Given the description of an element on the screen output the (x, y) to click on. 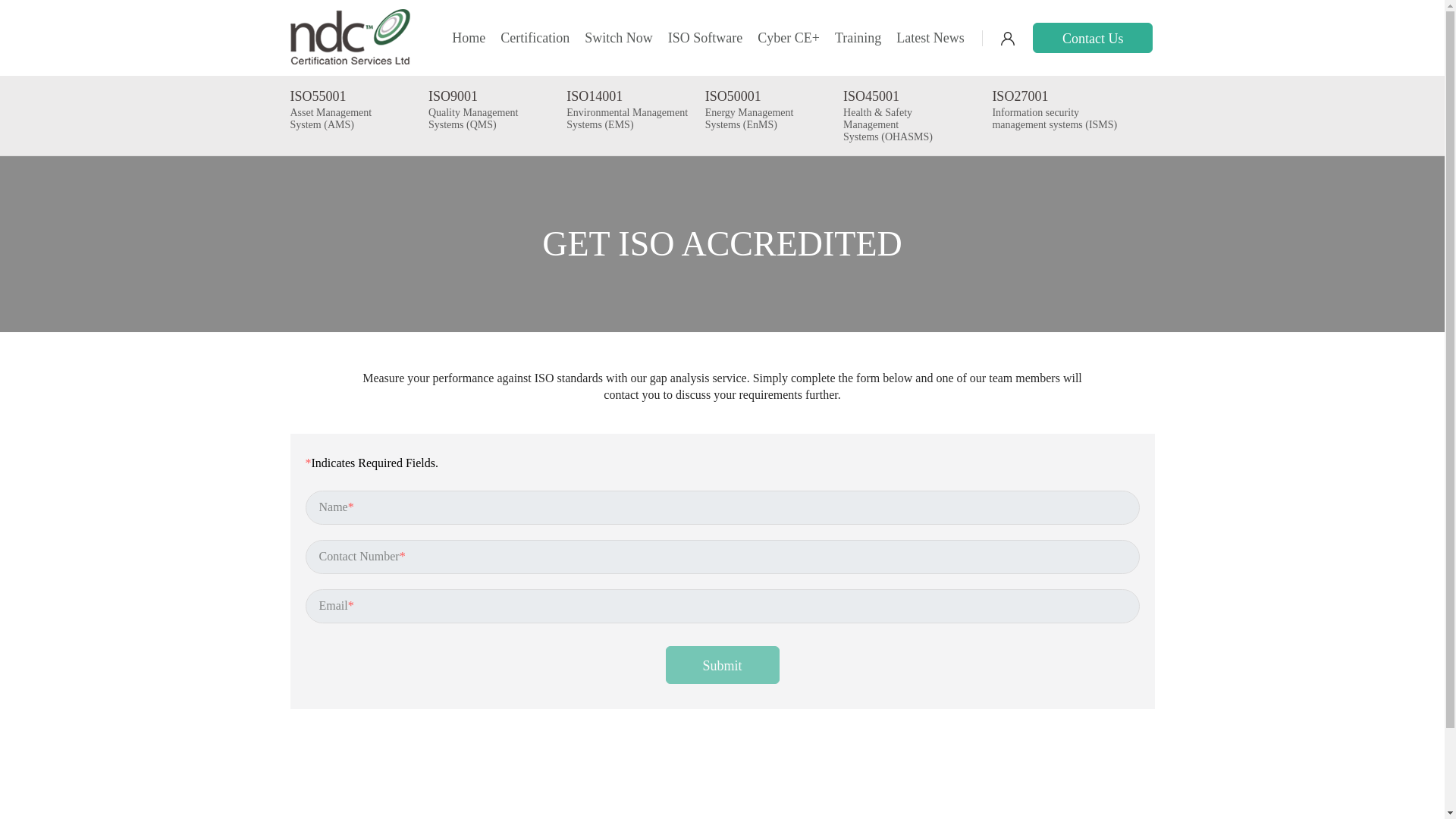
ISO14001 (626, 96)
ISO9001 (473, 96)
Training (857, 37)
ISO Software (705, 37)
ISO45001 (906, 96)
Home (467, 37)
Latest News (929, 37)
ISO27001 (1053, 96)
Certification (534, 37)
Contact Us (1092, 37)
